Given the description of an element on the screen output the (x, y) to click on. 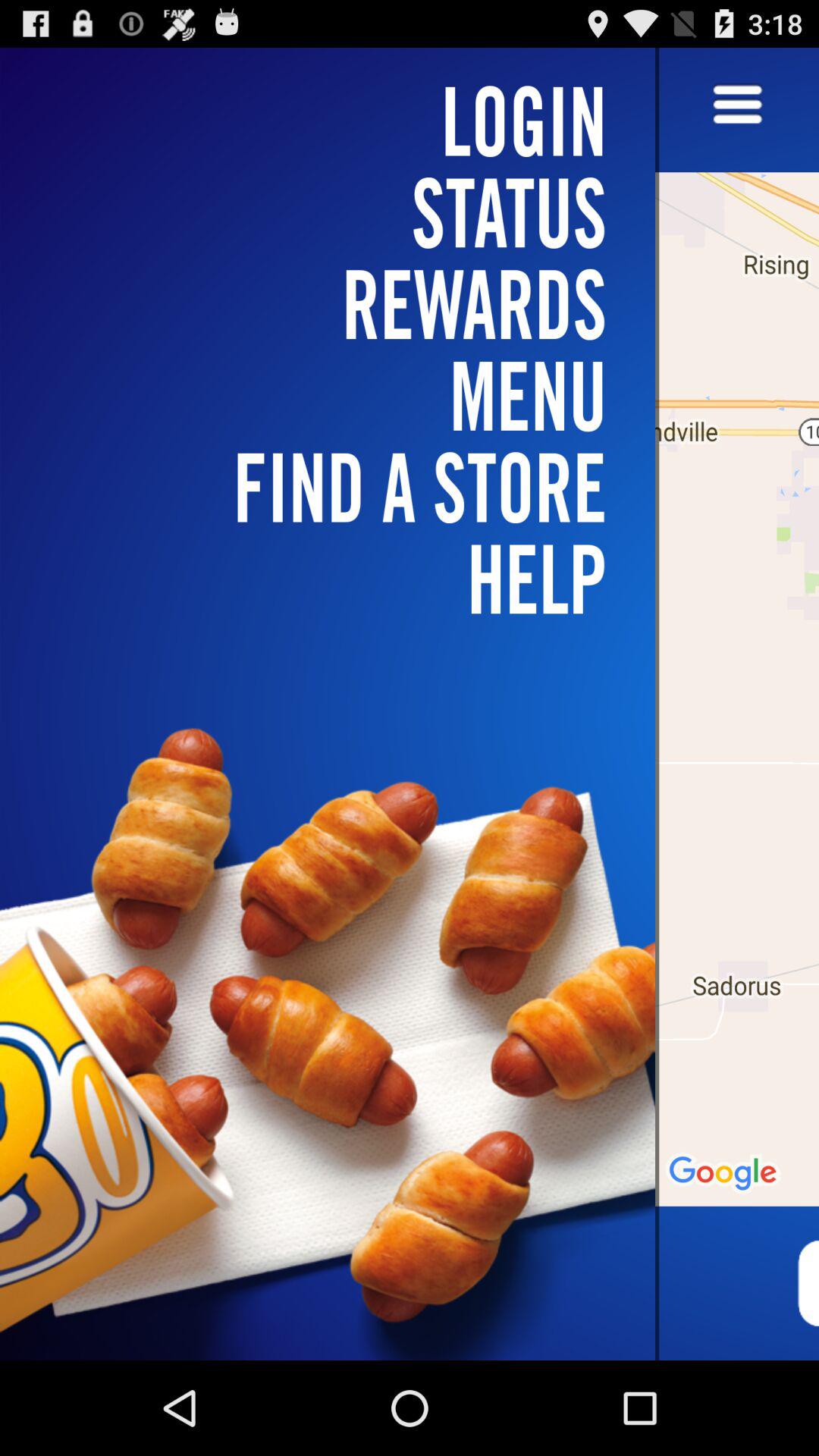
look at the map (737, 703)
